Given the description of an element on the screen output the (x, y) to click on. 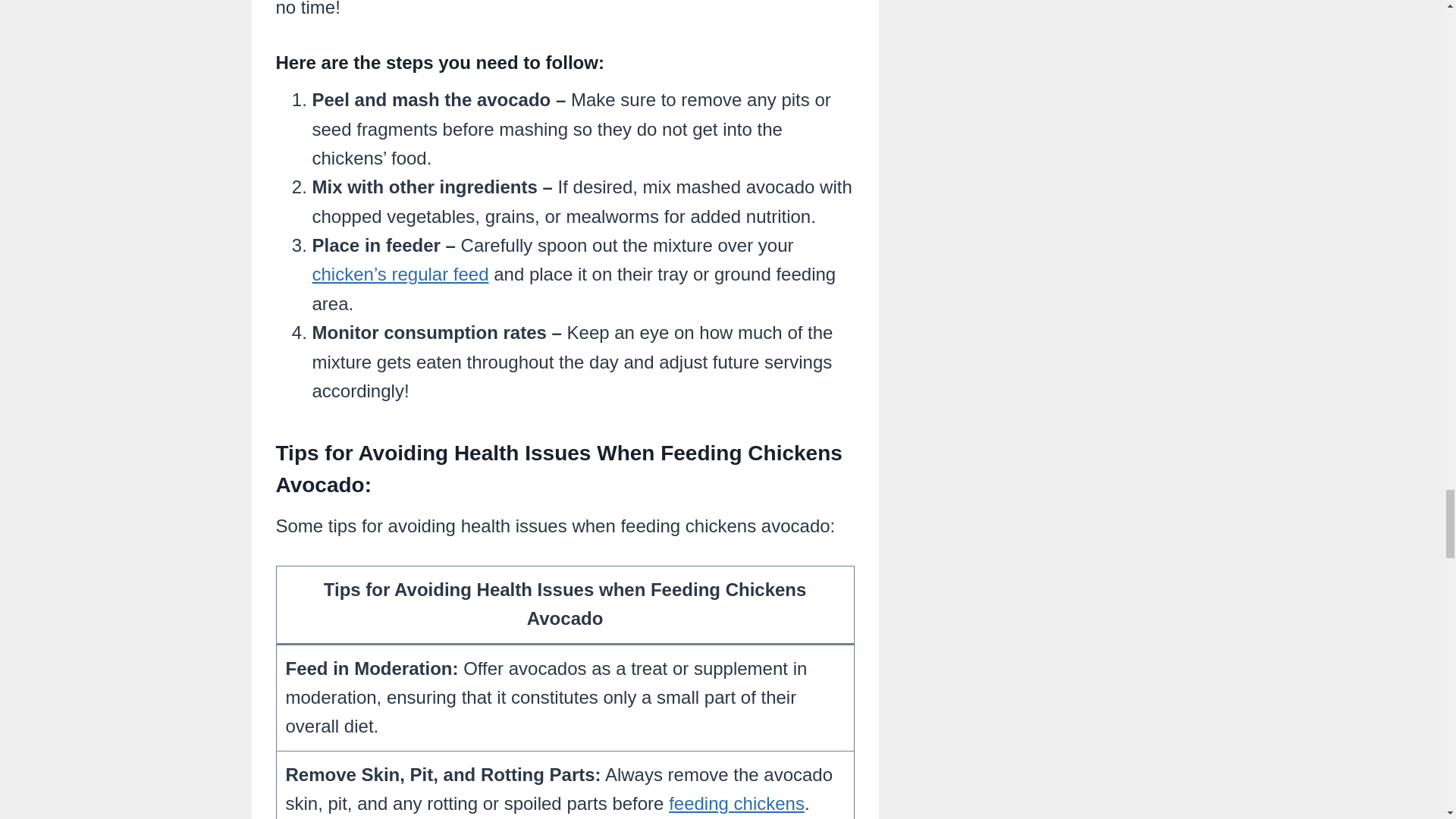
feeding chickens (736, 803)
